Given the description of an element on the screen output the (x, y) to click on. 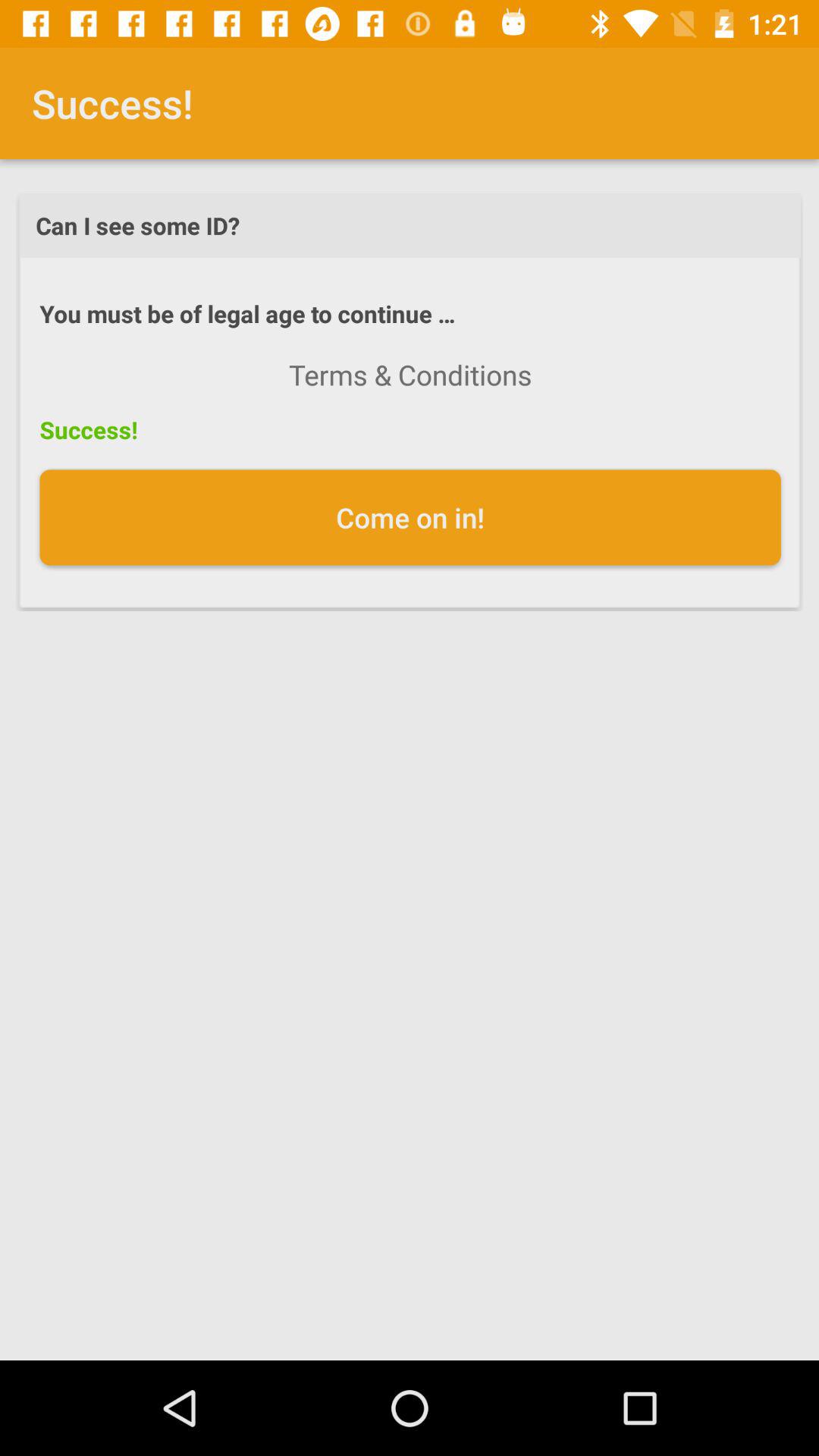
turn on the item below the you must be icon (409, 374)
